Given the description of an element on the screen output the (x, y) to click on. 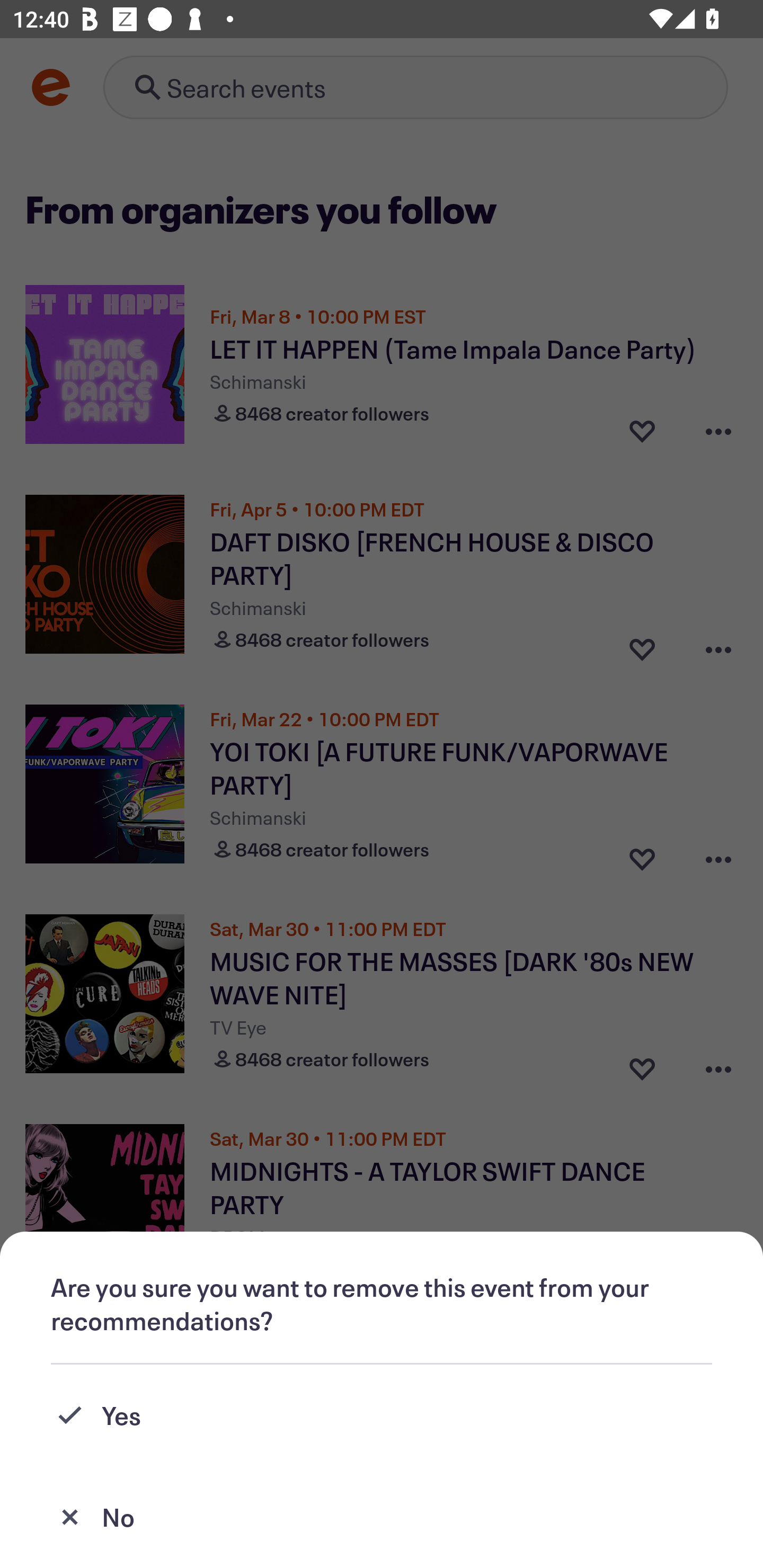
Yes (381, 1415)
No (381, 1517)
